Given the description of an element on the screen output the (x, y) to click on. 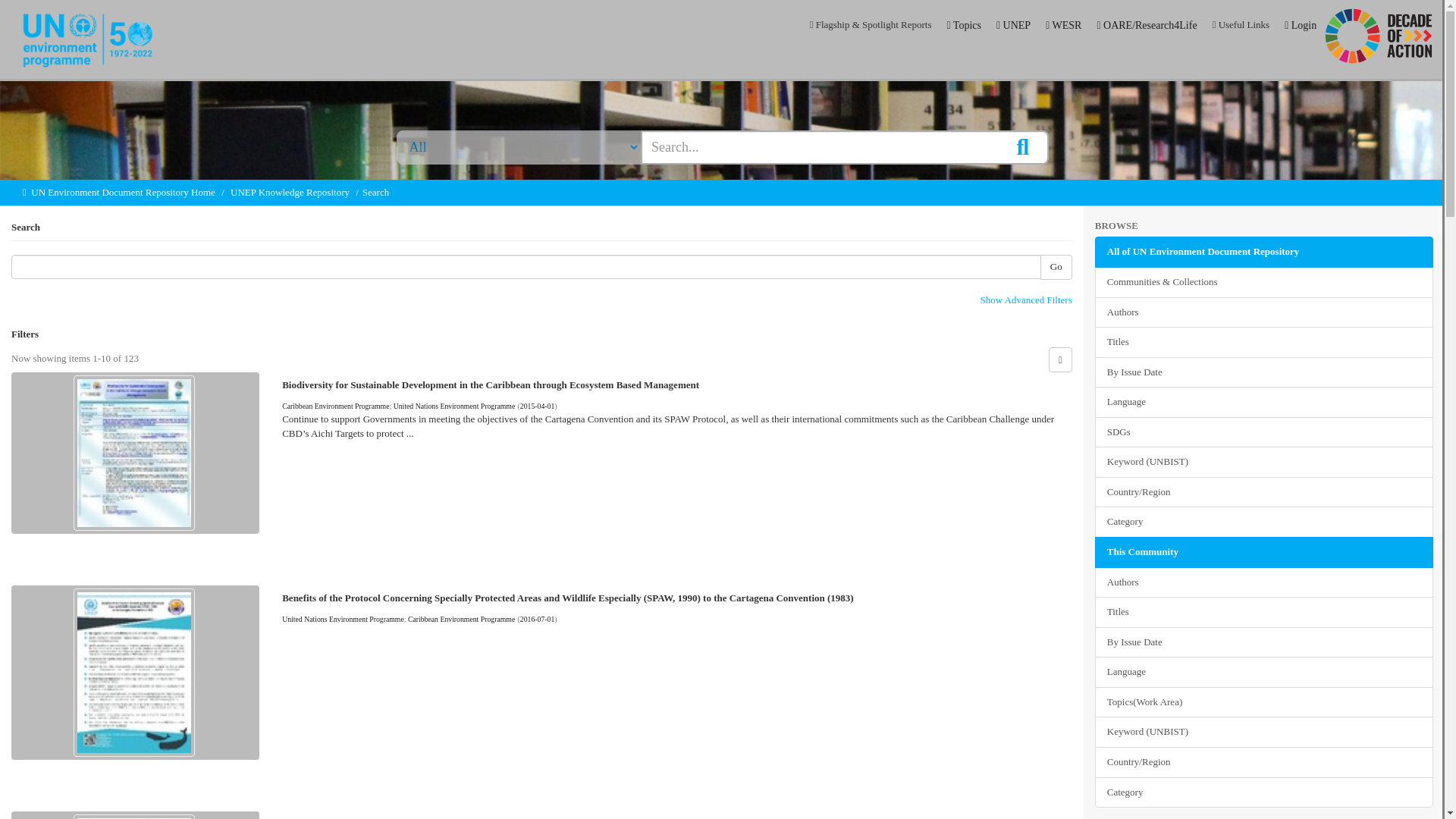
Topics (963, 25)
UNEP (1012, 25)
Login (1300, 25)
WESR (1063, 25)
